Given the description of an element on the screen output the (x, y) to click on. 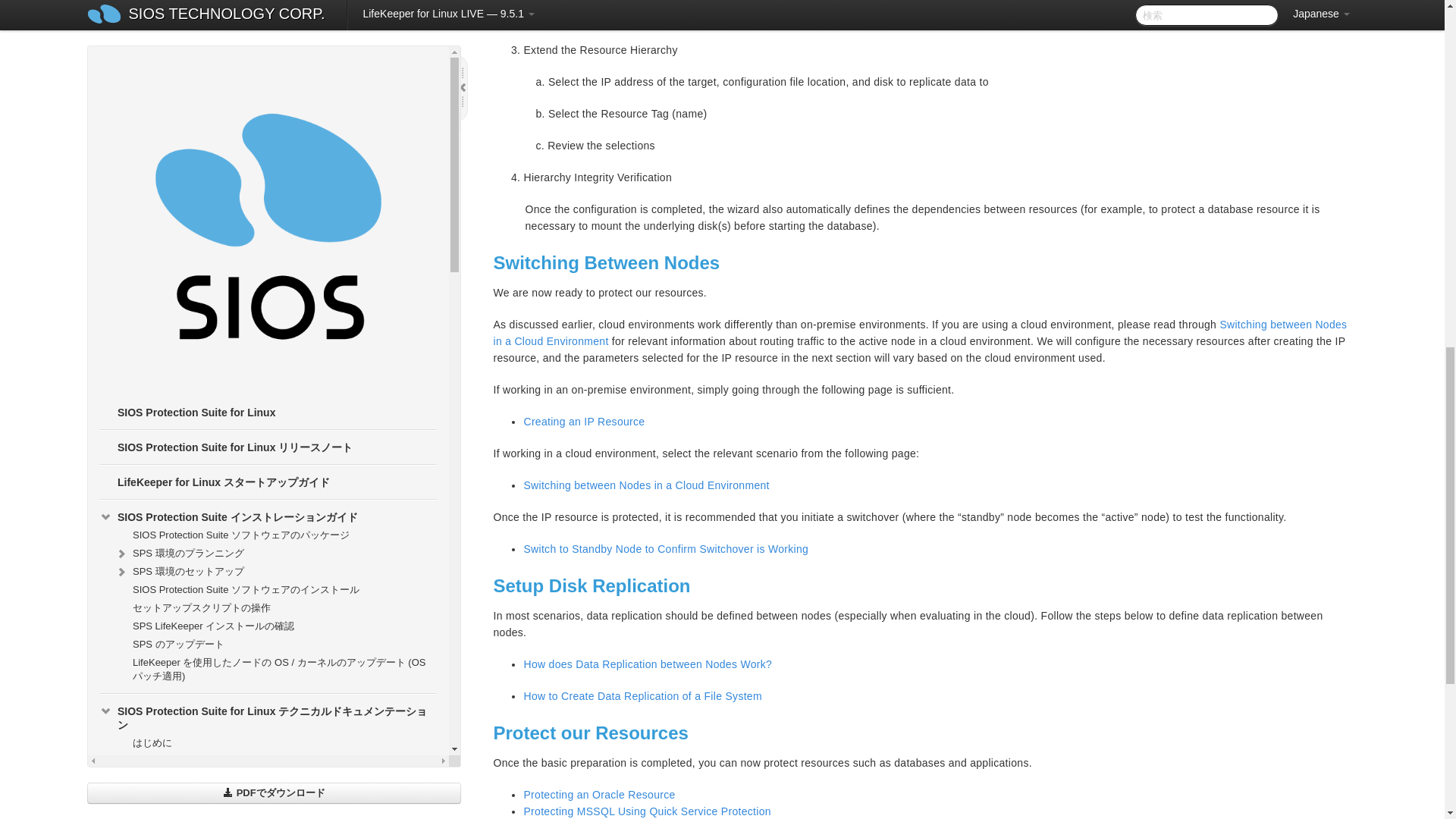
non-PDB (598, 794)
